Given the description of an element on the screen output the (x, y) to click on. 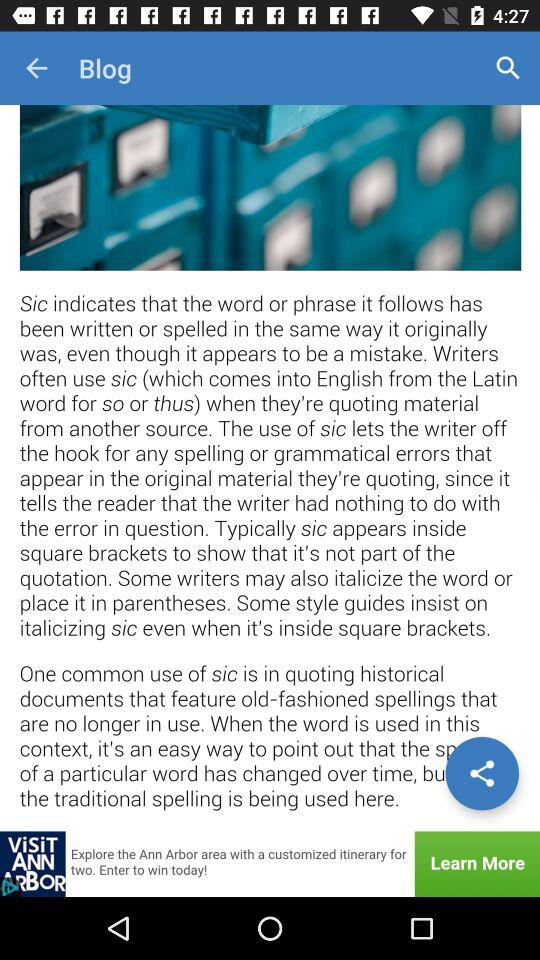
shows the en (270, 468)
